Given the description of an element on the screen output the (x, y) to click on. 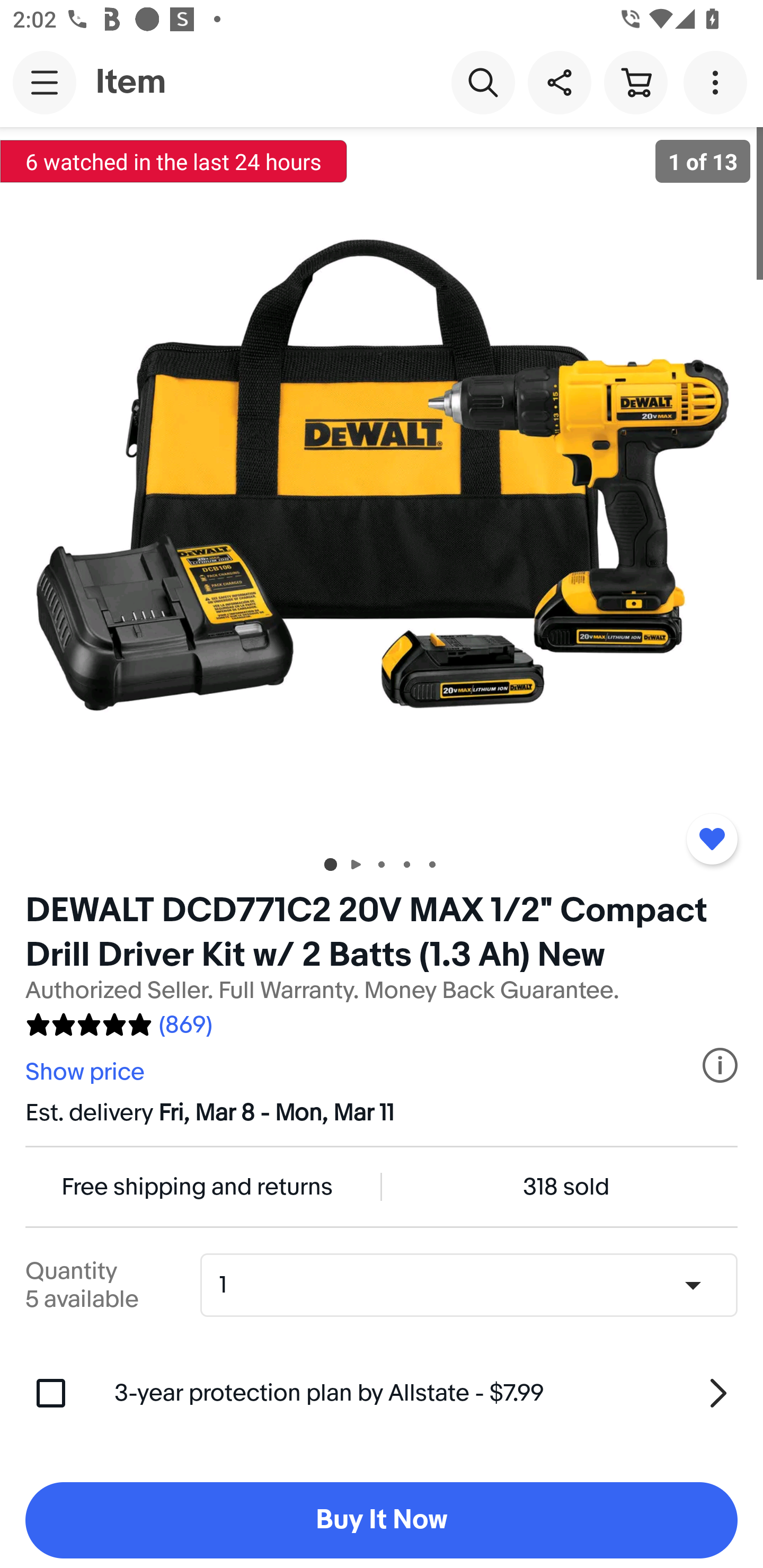
Main navigation, open (44, 82)
Search (482, 81)
Share this item (559, 81)
Cart button shopping cart (635, 81)
More options (718, 81)
Item image 1 of 13 (381, 482)
6 watched in the last 24 hours (173, 161)
Added to watchlist (711, 838)
More information (719, 1065)
Show price (87, 1072)
Quantity,1,5 available 1 (474, 1284)
3-year protection plan by Allstate - $7.99 (425, 1392)
Buy It Now (381, 1519)
